Given the description of an element on the screen output the (x, y) to click on. 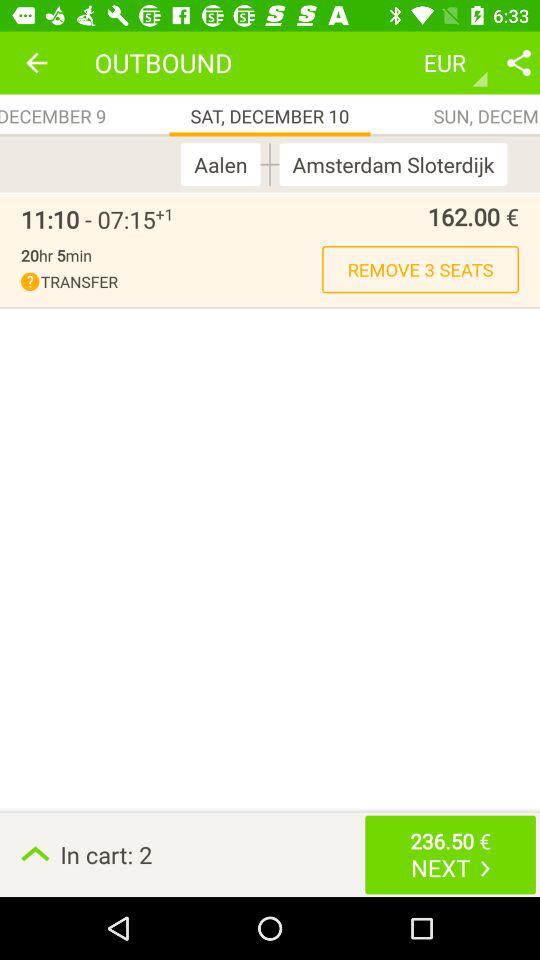
go to share option (519, 62)
